Given the description of an element on the screen output the (x, y) to click on. 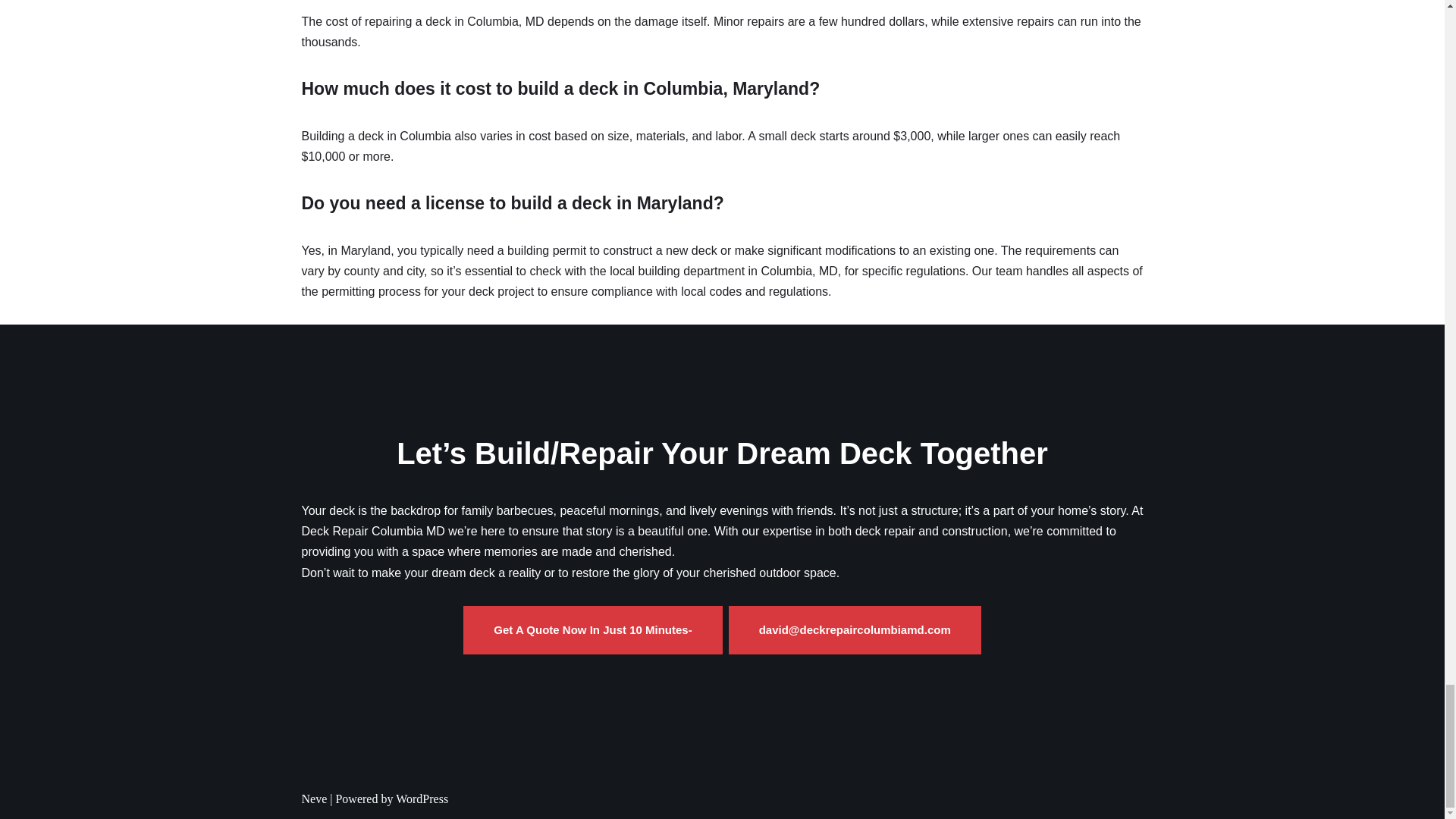
Neve (314, 798)
Get A Quote Now In Just 10 Minutes- (592, 630)
WordPress (422, 798)
